Given the description of an element on the screen output the (x, y) to click on. 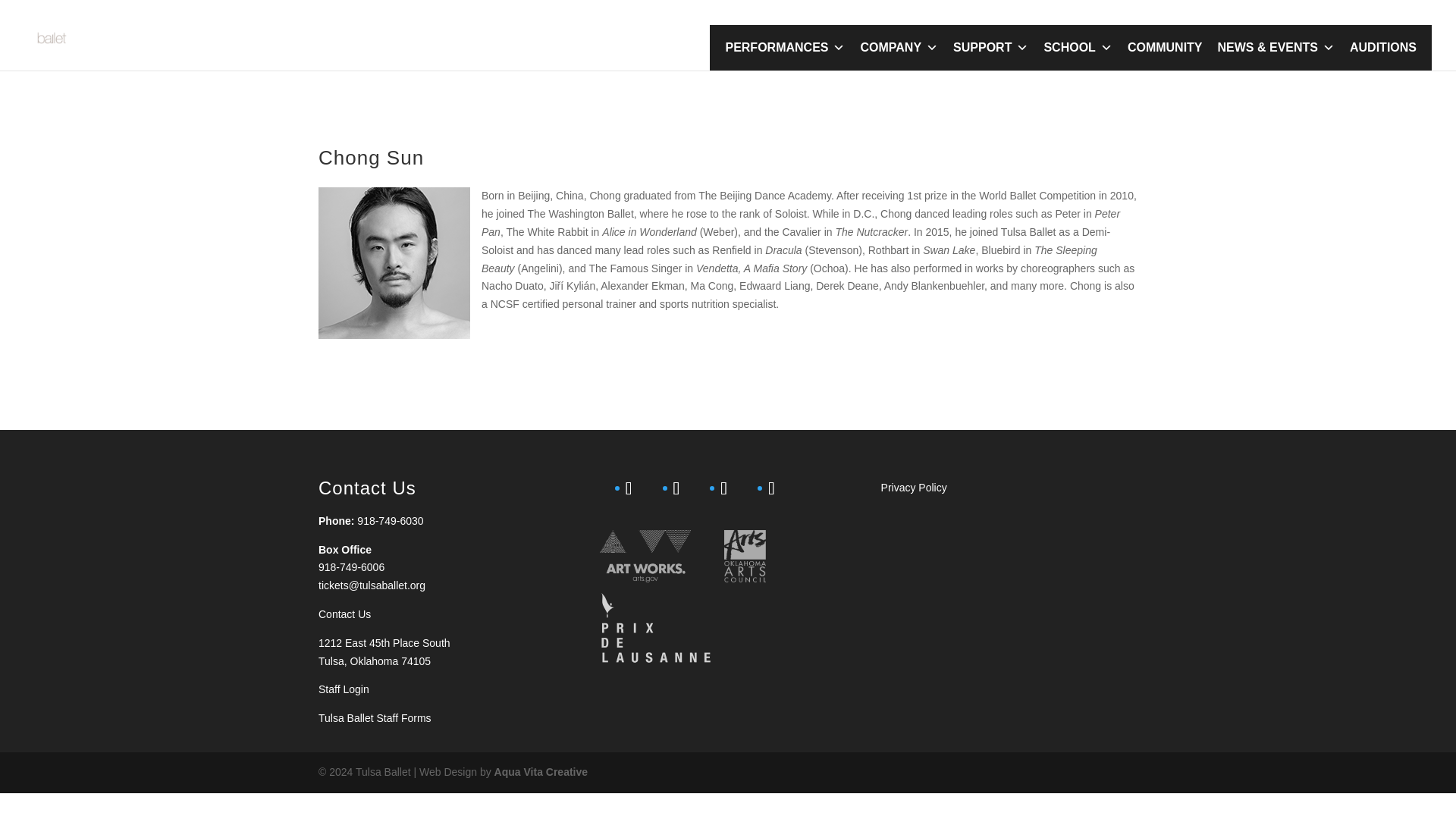
Tulsa Ballet Staff Forms (374, 717)
PERFORMANCES (784, 47)
Contact Us (344, 613)
AUDITIONS (1382, 47)
SCHOOL (1077, 47)
Staff Login (343, 689)
SUPPORT (989, 47)
COMMUNITY (1164, 47)
COMPANY (897, 47)
